Given the description of an element on the screen output the (x, y) to click on. 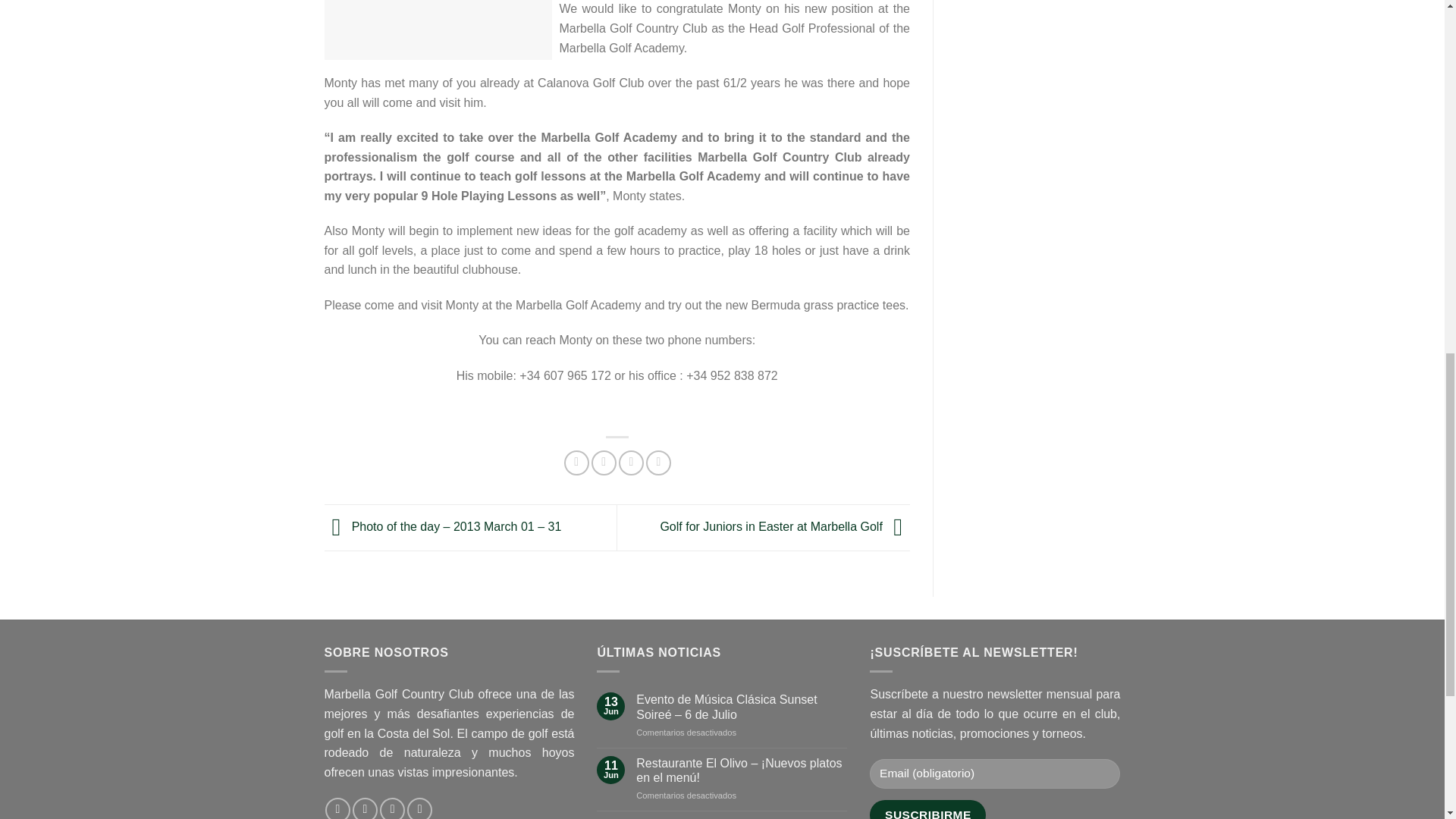
Compartir en Facebook (576, 462)
Suscribirme (927, 809)
Monty (437, 29)
Compartir en Twitter (603, 462)
